Given the description of an element on the screen output the (x, y) to click on. 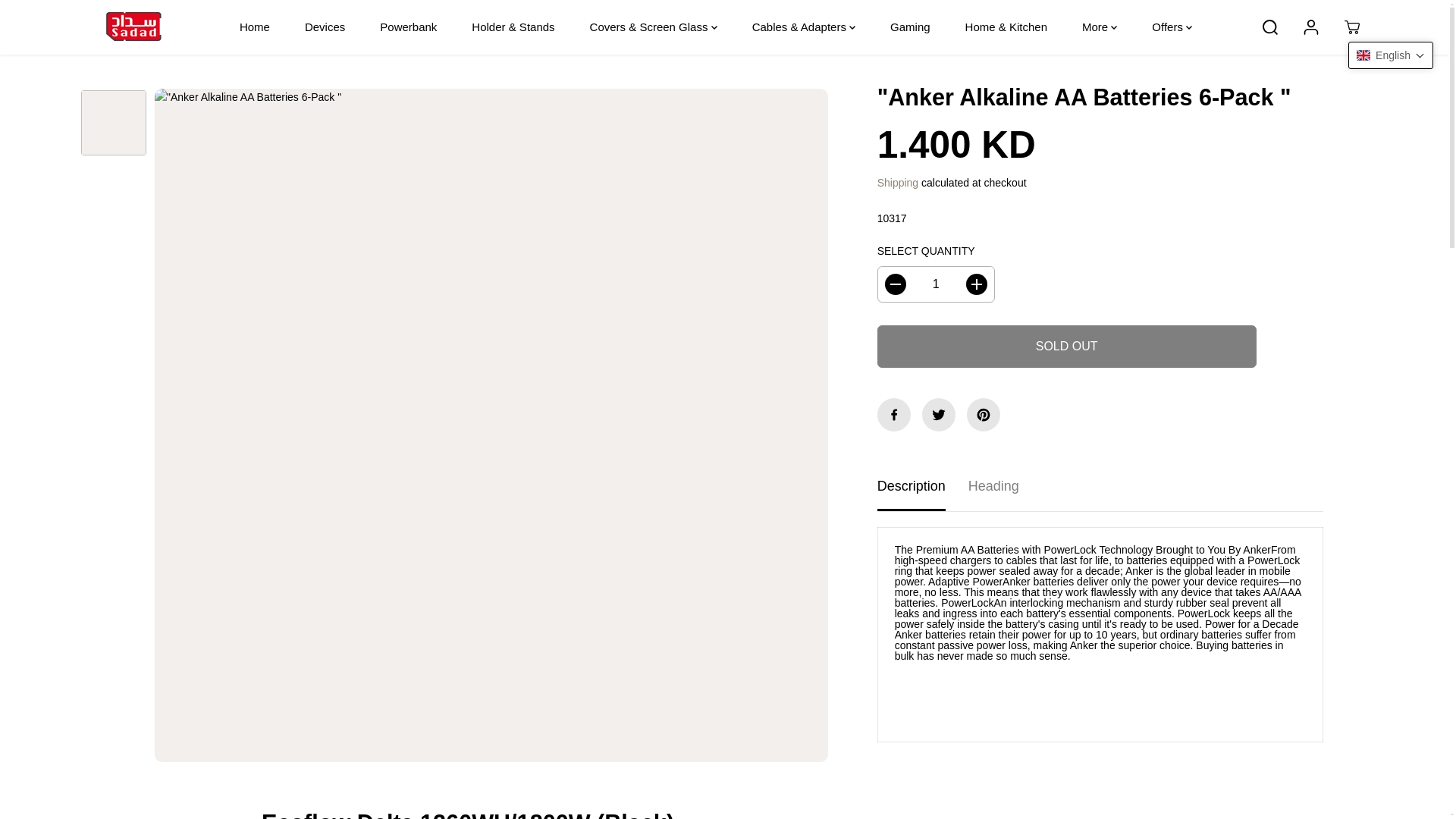
Search (1270, 27)
Pinterest (983, 414)
Log in (1310, 27)
Cart (1351, 27)
Twitter (938, 414)
1 (935, 284)
SKIP TO CONTENT (60, 18)
Facebook (894, 414)
